Given the description of an element on the screen output the (x, y) to click on. 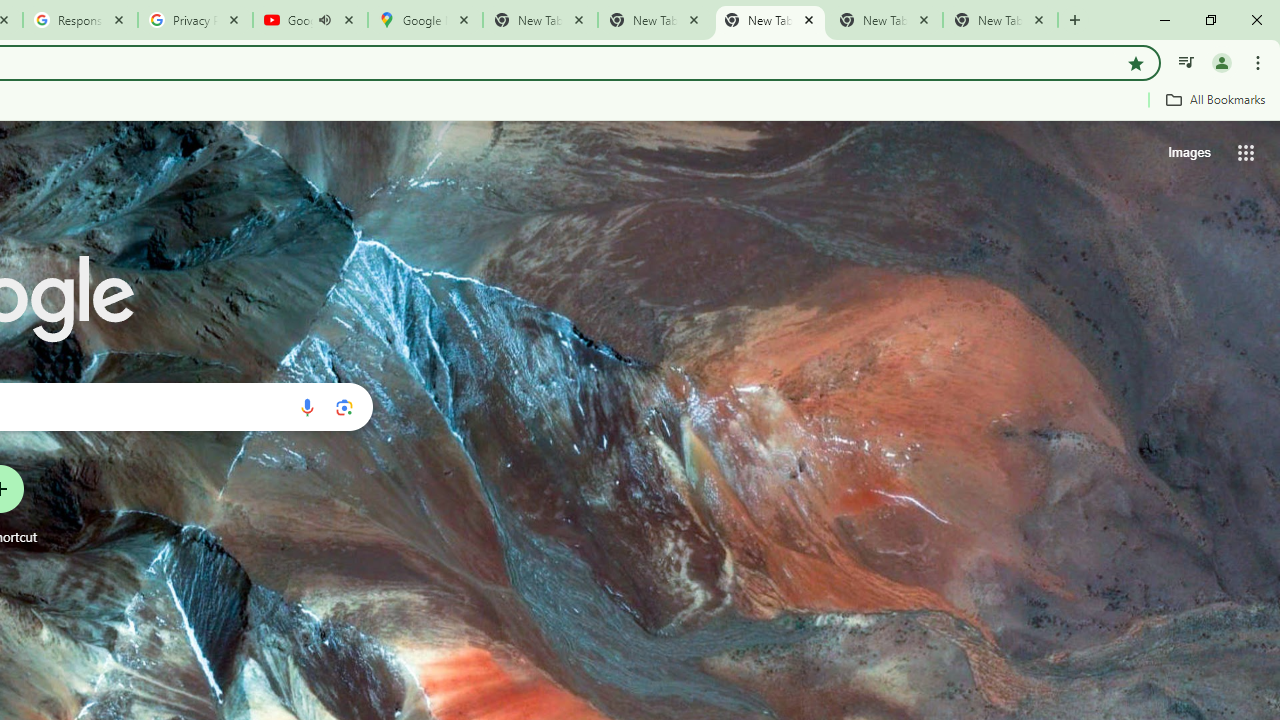
New Tab (1000, 20)
